Given the description of an element on the screen output the (x, y) to click on. 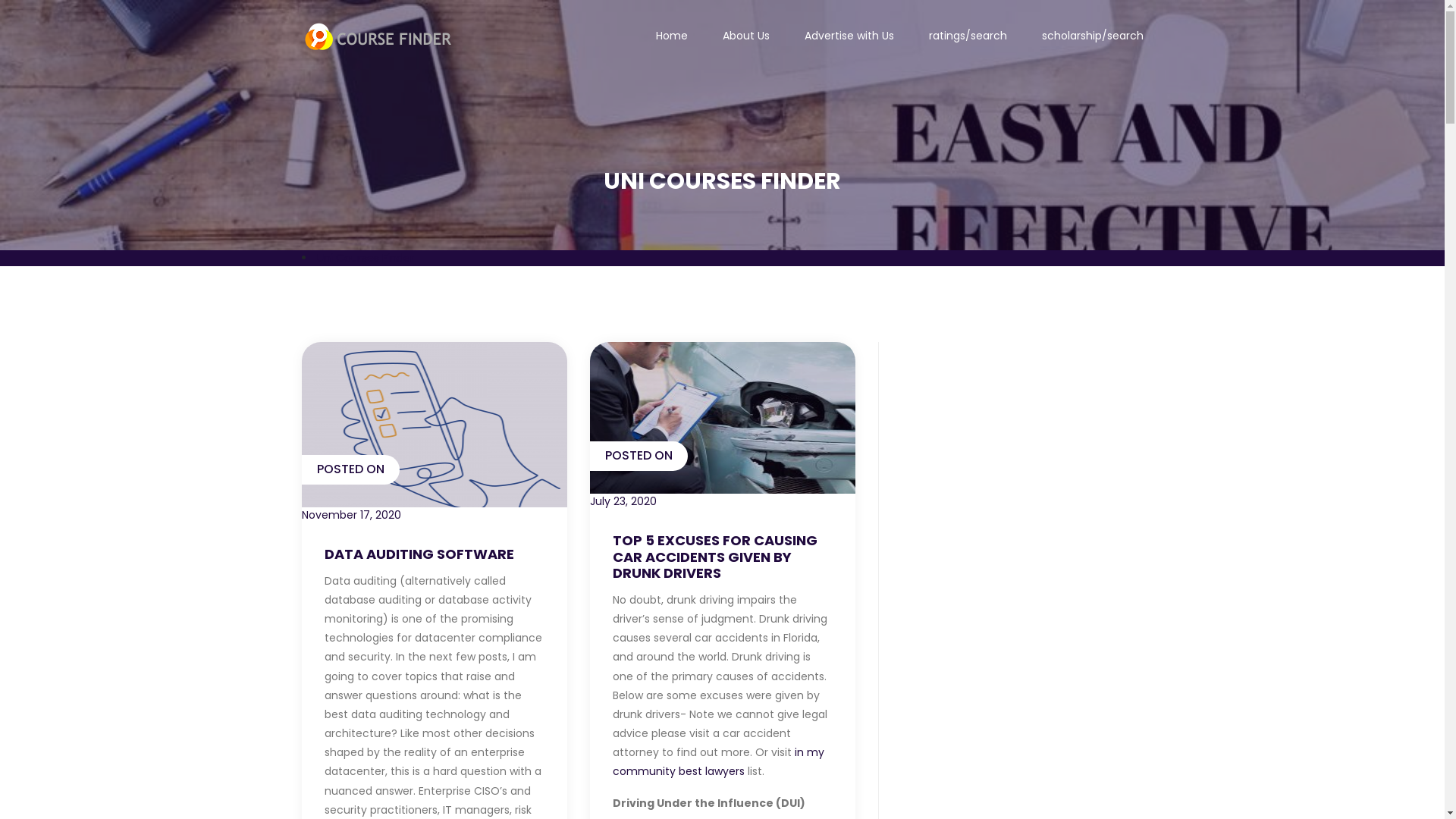
Advertise with Us Element type: text (848, 36)
July 23, 2020 Element type: text (722, 501)
in my community best lawyers Element type: text (718, 761)
Uni Courses Finder Element type: text (365, 257)
About Us Element type: text (744, 36)
ratings/search Element type: text (967, 36)
November 17, 2020 Element type: text (434, 515)
POSTED ON Element type: text (722, 417)
scholarship/search Element type: text (1092, 36)
DATA AUDITING SOFTWARE Element type: text (434, 554)
Home Element type: text (671, 36)
POSTED ON Element type: text (434, 424)
